Given the description of an element on the screen output the (x, y) to click on. 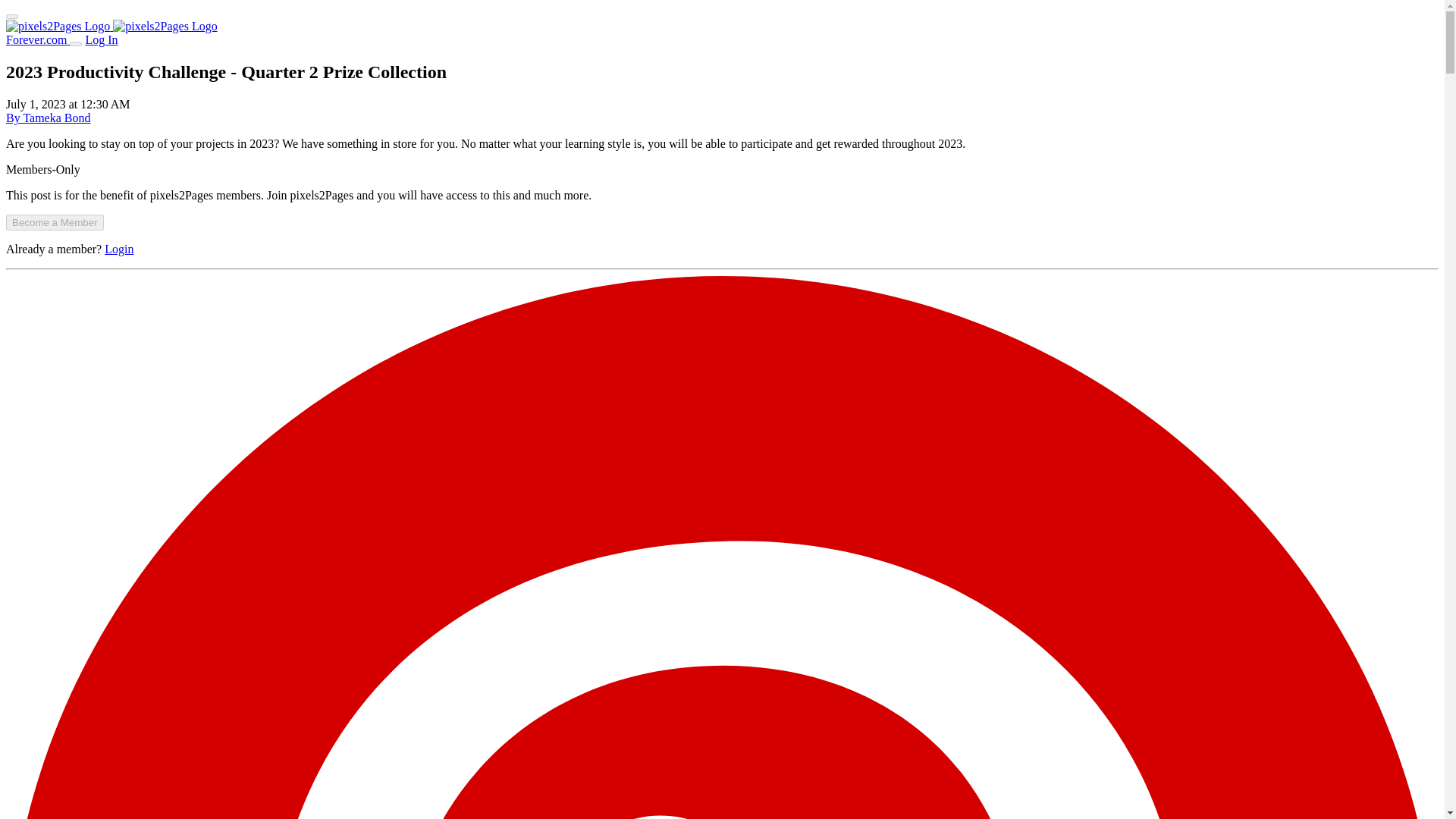
Search (75, 43)
Login (118, 248)
Forever.com (37, 39)
Log In (100, 39)
By Tameka Bond (47, 117)
Back to pixels2Pages Home (110, 25)
Become a Member (54, 222)
